Given the description of an element on the screen output the (x, y) to click on. 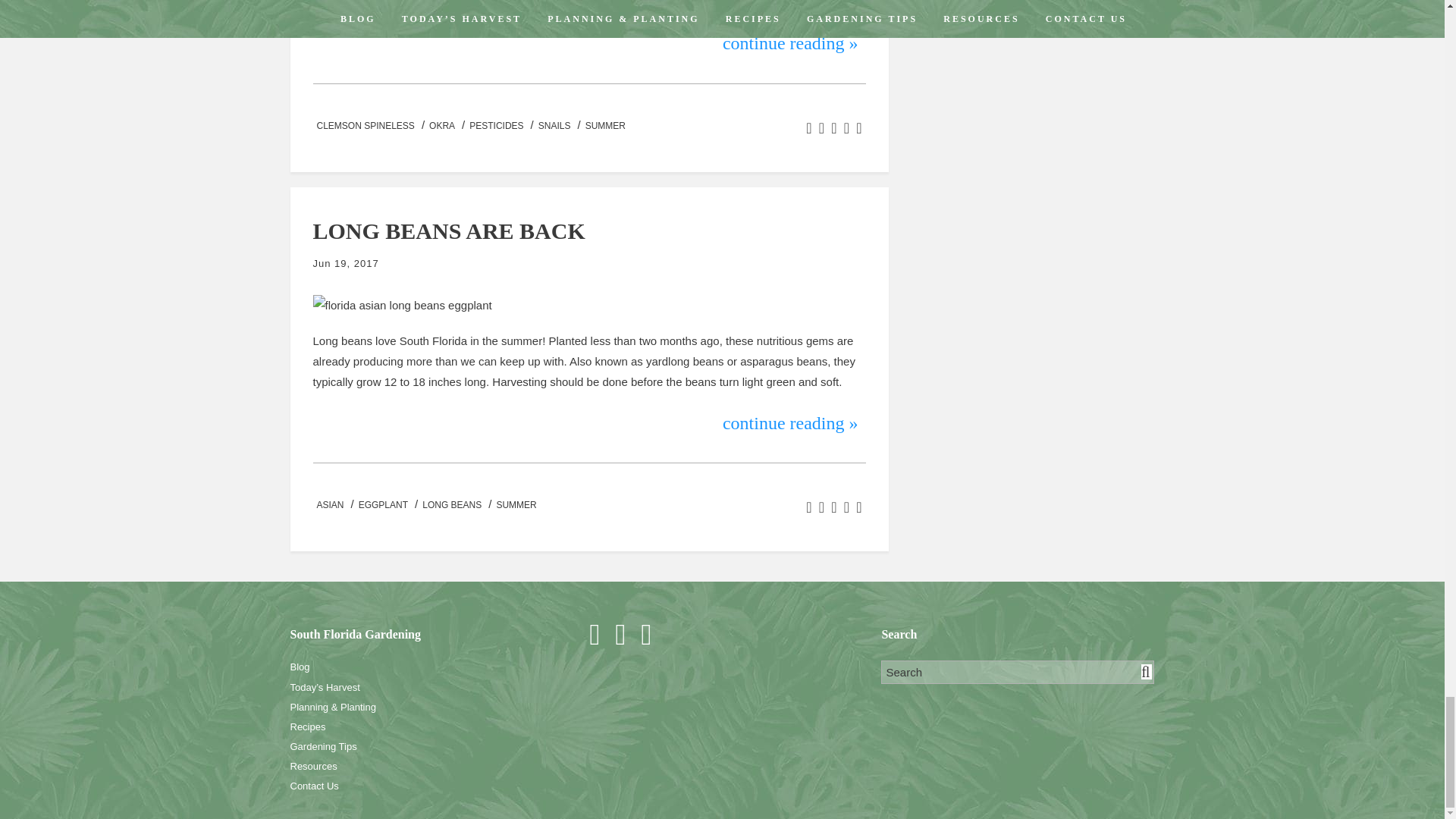
Search (1017, 671)
